Given the description of an element on the screen output the (x, y) to click on. 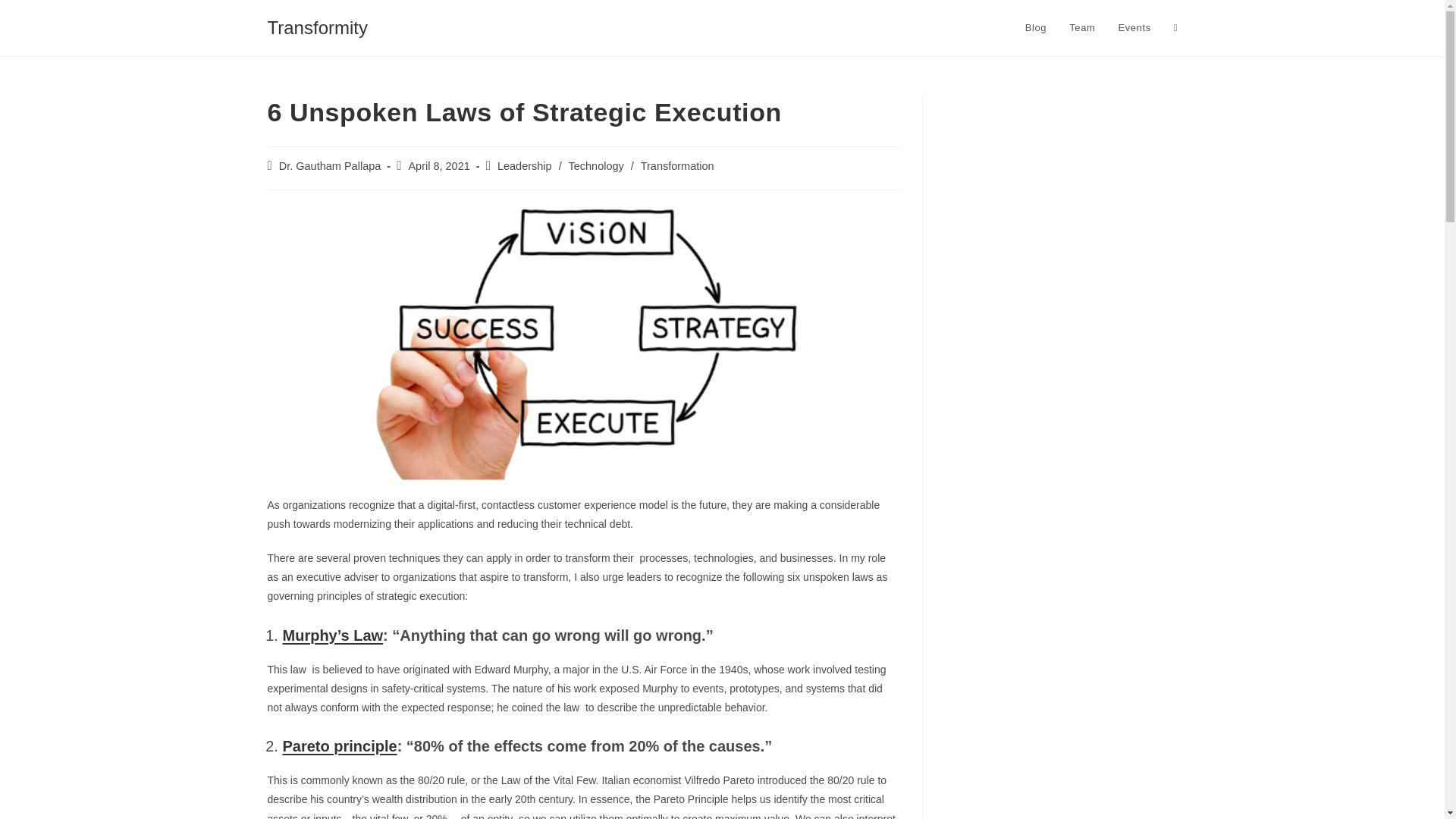
Posts by Dr. Gautham Pallapa (330, 165)
Transformation (677, 165)
Events (1133, 28)
Leadership (524, 165)
Pareto principle (339, 745)
Transformity (316, 27)
Dr. Gautham Pallapa (330, 165)
Technology (595, 165)
